Given the description of an element on the screen output the (x, y) to click on. 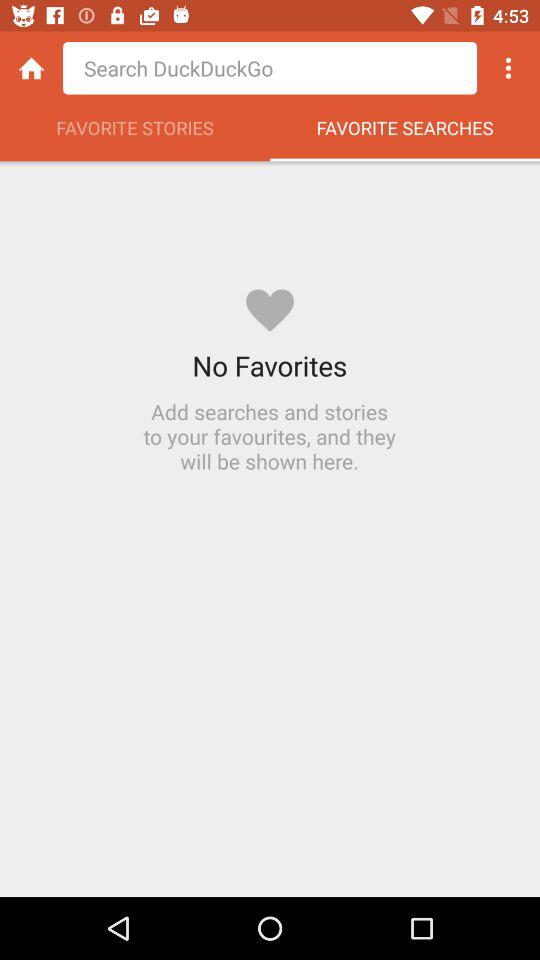
launch icon above favorite searches item (508, 68)
